Given the description of an element on the screen output the (x, y) to click on. 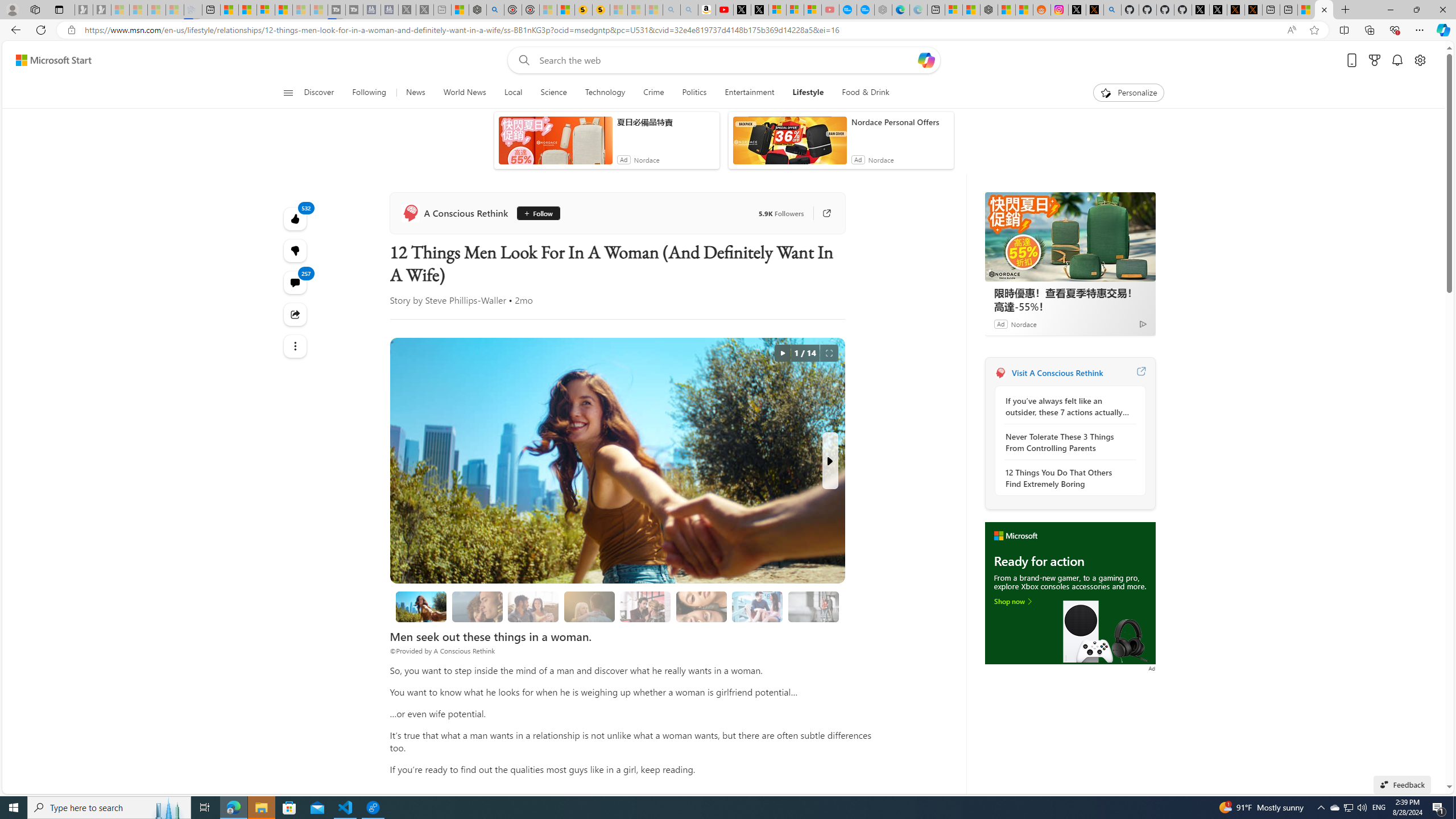
Skip to content (49, 59)
Politics (694, 92)
Nordace - Nordace has arrived Hong Kong - Sleeping (882, 9)
Men seek out these things in a woman. (421, 606)
Food & Drink (865, 92)
Gloom - YouTube - Sleeping (830, 9)
